Given the description of an element on the screen output the (x, y) to click on. 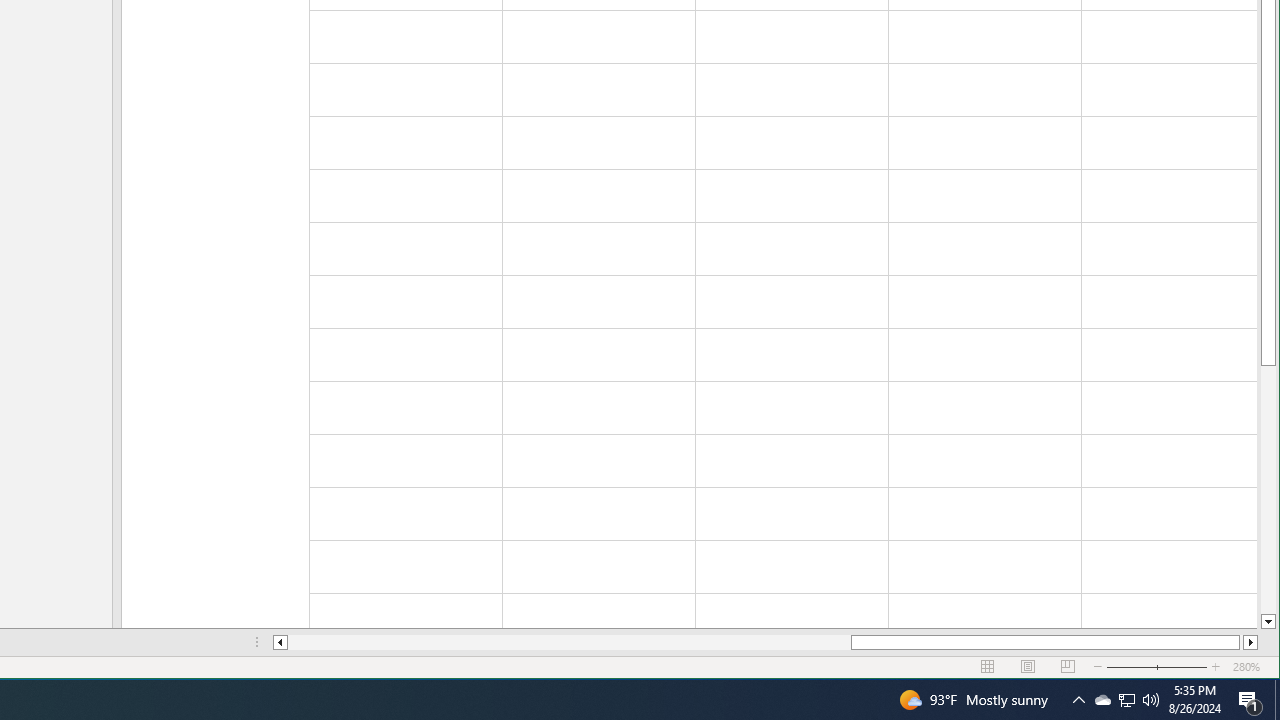
Show desktop (1126, 699)
Q2790: 100% (1277, 699)
Action Center, 1 new notification (1151, 699)
